Given the description of an element on the screen output the (x, y) to click on. 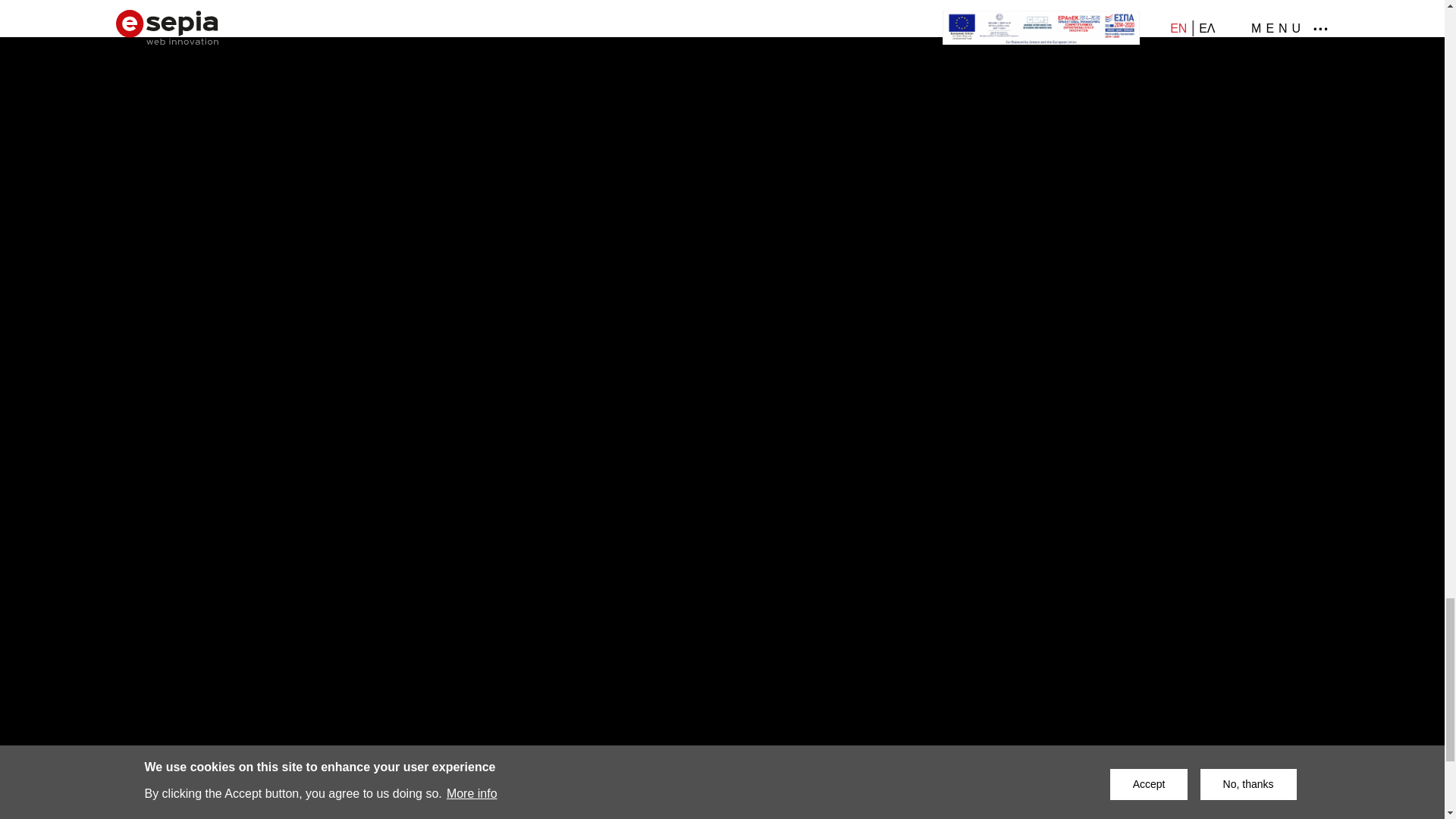
submit (1101, 731)
